Given the description of an element on the screen output the (x, y) to click on. 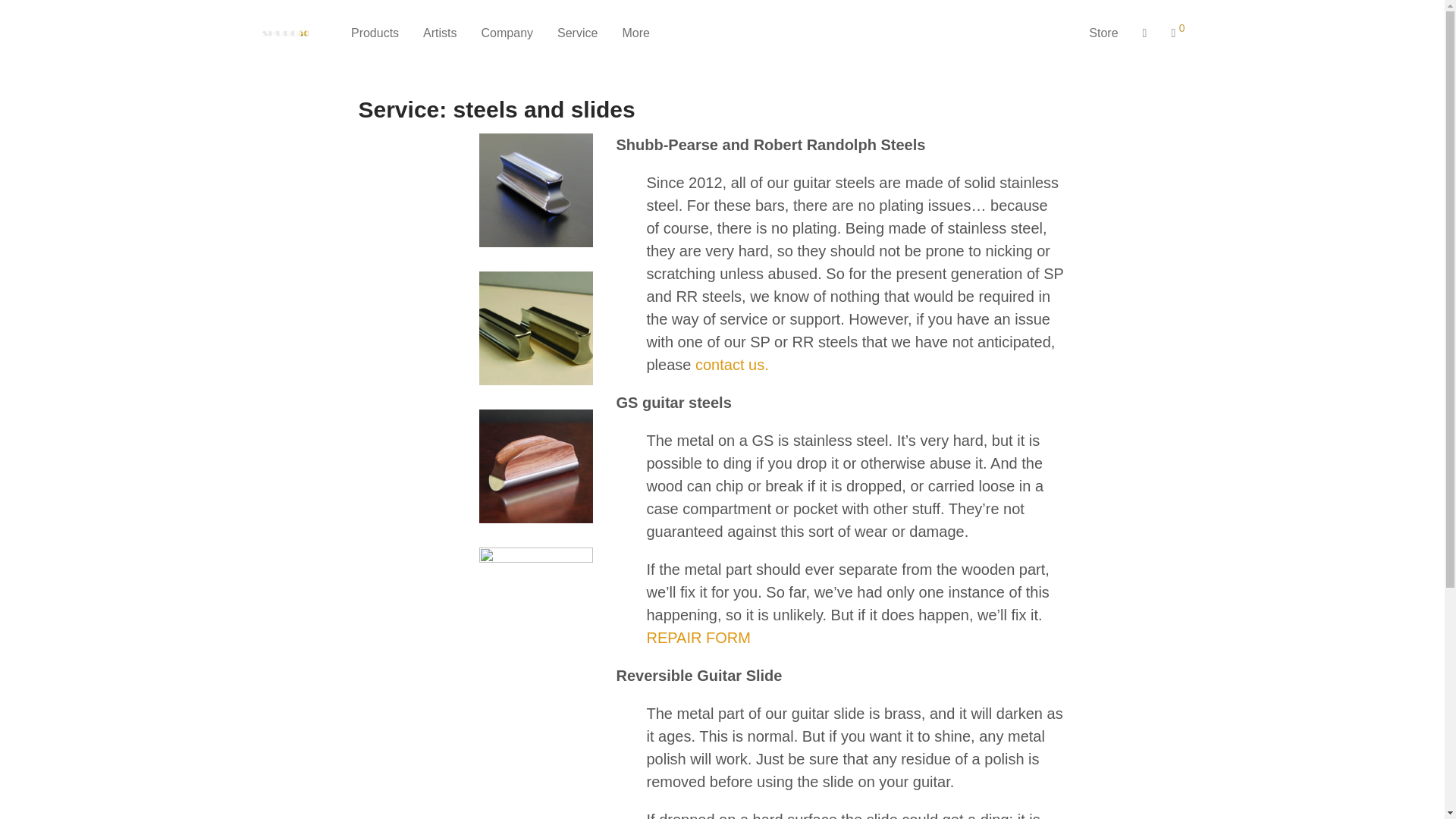
0 (1177, 33)
More (635, 33)
Company (506, 33)
Products (374, 33)
REPAIR FORM (697, 637)
contact us. (731, 364)
Artists (439, 33)
Service (577, 33)
Store (1103, 33)
